Given the description of an element on the screen output the (x, y) to click on. 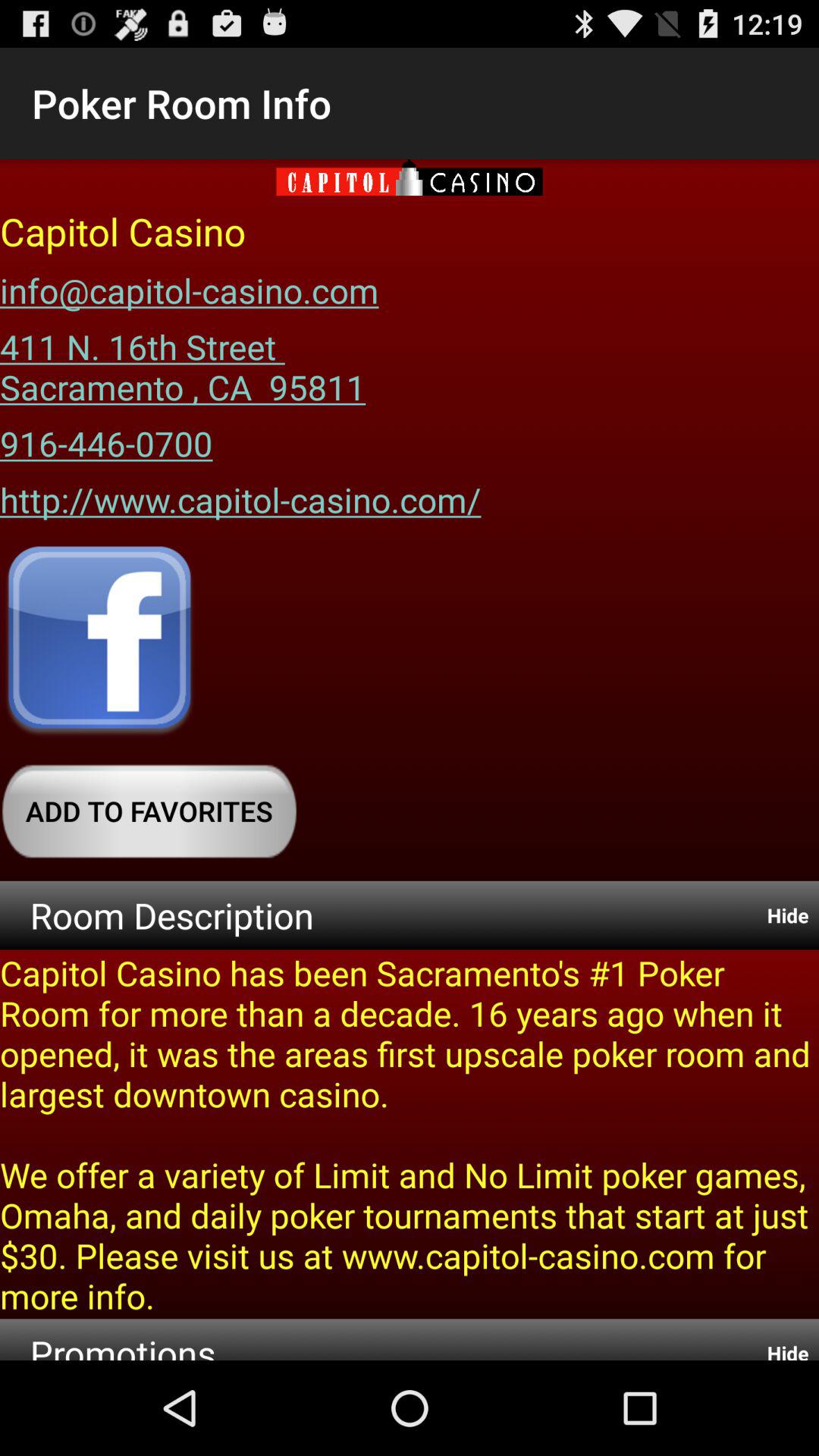
go to facebook fanpage (99, 641)
